Given the description of an element on the screen output the (x, y) to click on. 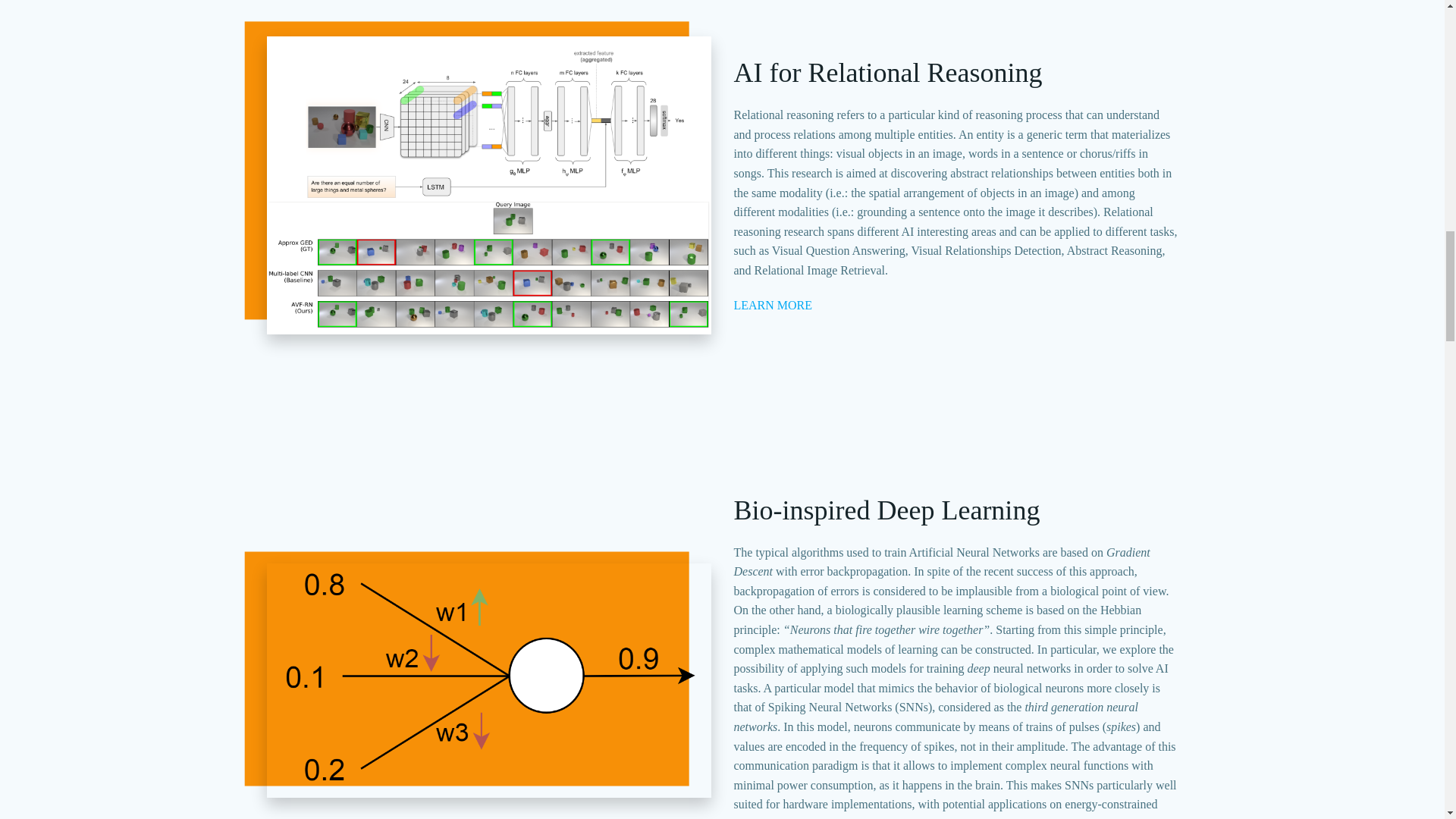
LEARN MORE (772, 305)
